Given the description of an element on the screen output the (x, y) to click on. 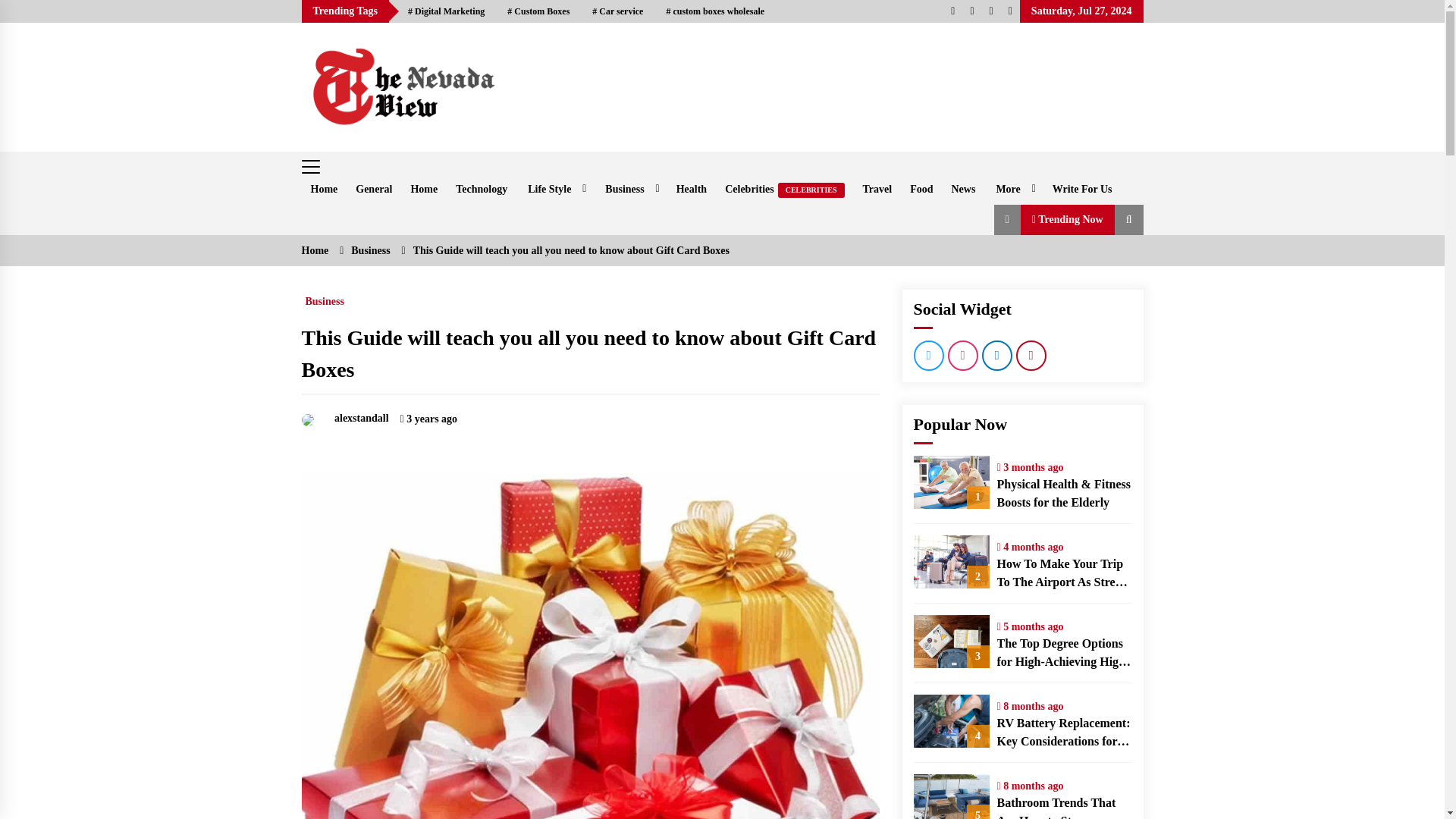
custom boxes wholesale (714, 11)
General (373, 189)
Health (691, 189)
More (1013, 189)
Custom Boxes (538, 11)
Car service (616, 11)
News (963, 189)
Write For Us (1082, 189)
Home (324, 189)
Travel (877, 189)
CelebritiesCELEBRITIES (784, 189)
Food (921, 189)
Digital Marketing (446, 11)
Business (630, 189)
Technology (481, 189)
